Given the description of an element on the screen output the (x, y) to click on. 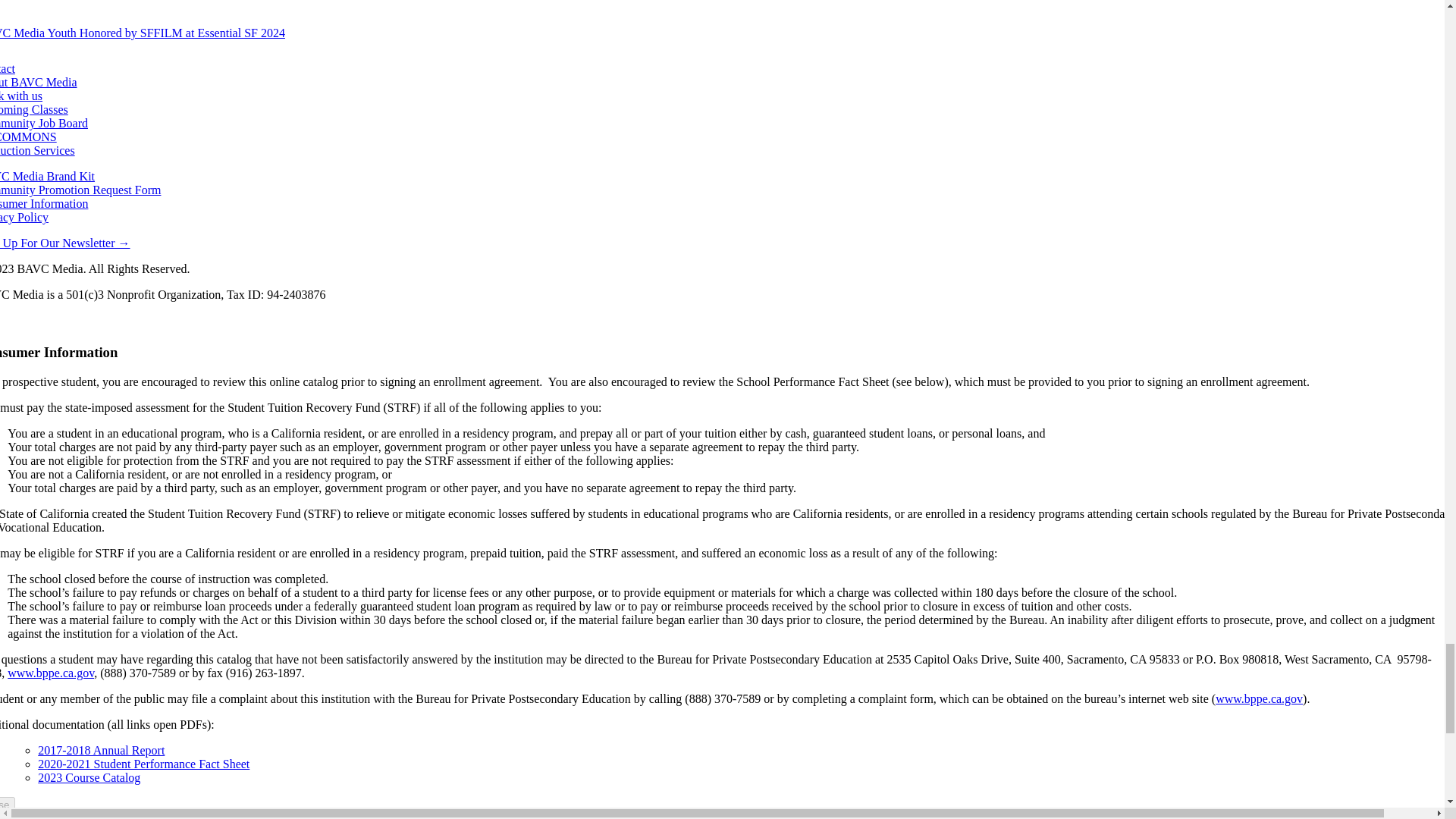
Work with us (21, 95)
Upcoming Classes (34, 109)
Community Job Board (43, 123)
About BAVC Media (38, 82)
SF COMMONS (28, 136)
Consumer Information (43, 203)
Privacy Policy (24, 216)
BAVC Media Brand Kit (47, 175)
Contact (7, 68)
BAVC Media Youth Honored by SFFILM at Essential SF 2024 (142, 32)
Production Services (37, 150)
Community Promotion Request Form (80, 189)
